Given the description of an element on the screen output the (x, y) to click on. 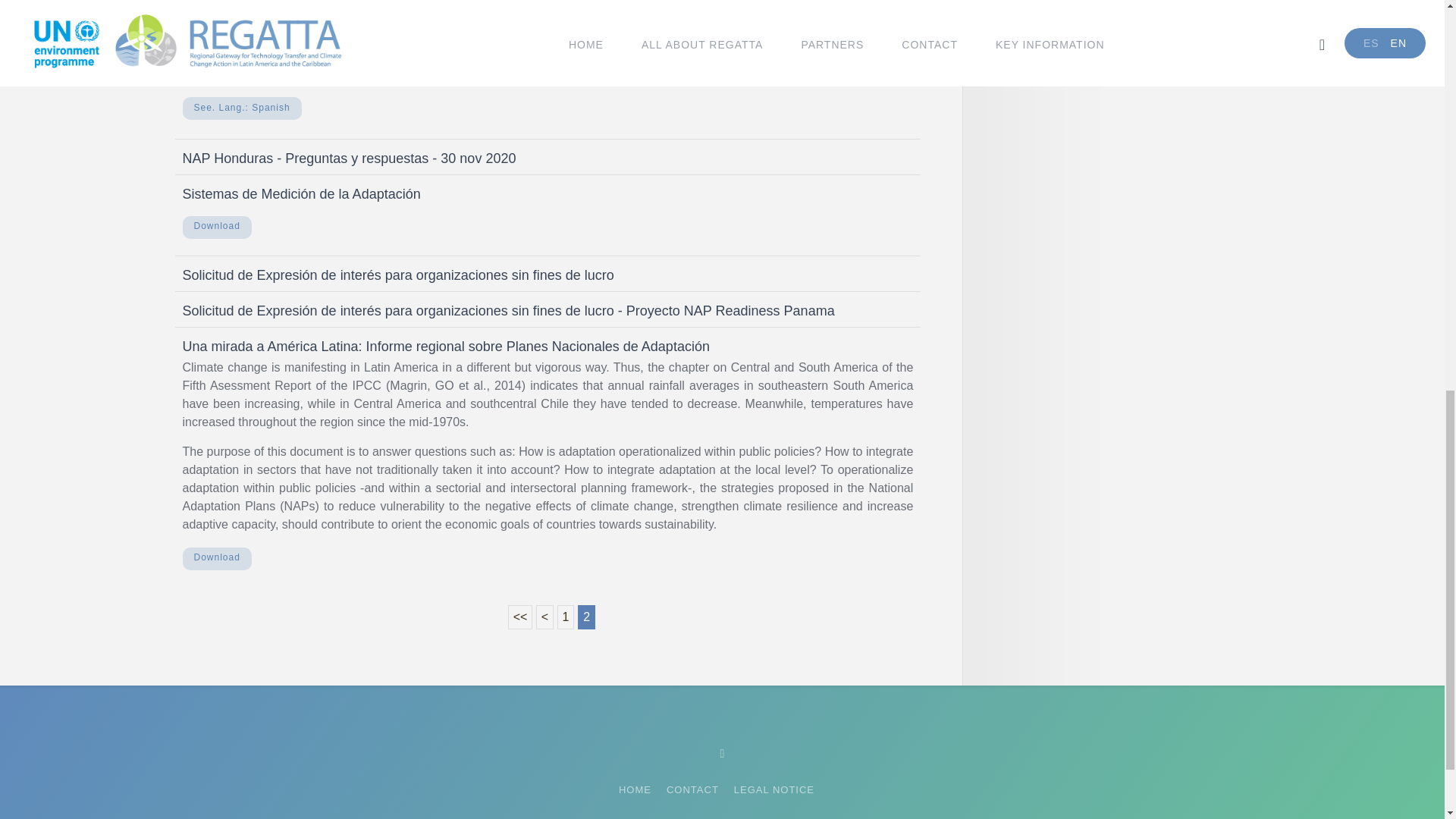
Download (216, 224)
Download (216, 556)
Download (216, 556)
See. Lang.: Spanish (241, 108)
Download (216, 224)
See. Lang.: Spanish (241, 108)
Download (216, 10)
Download (216, 10)
